Given the description of an element on the screen output the (x, y) to click on. 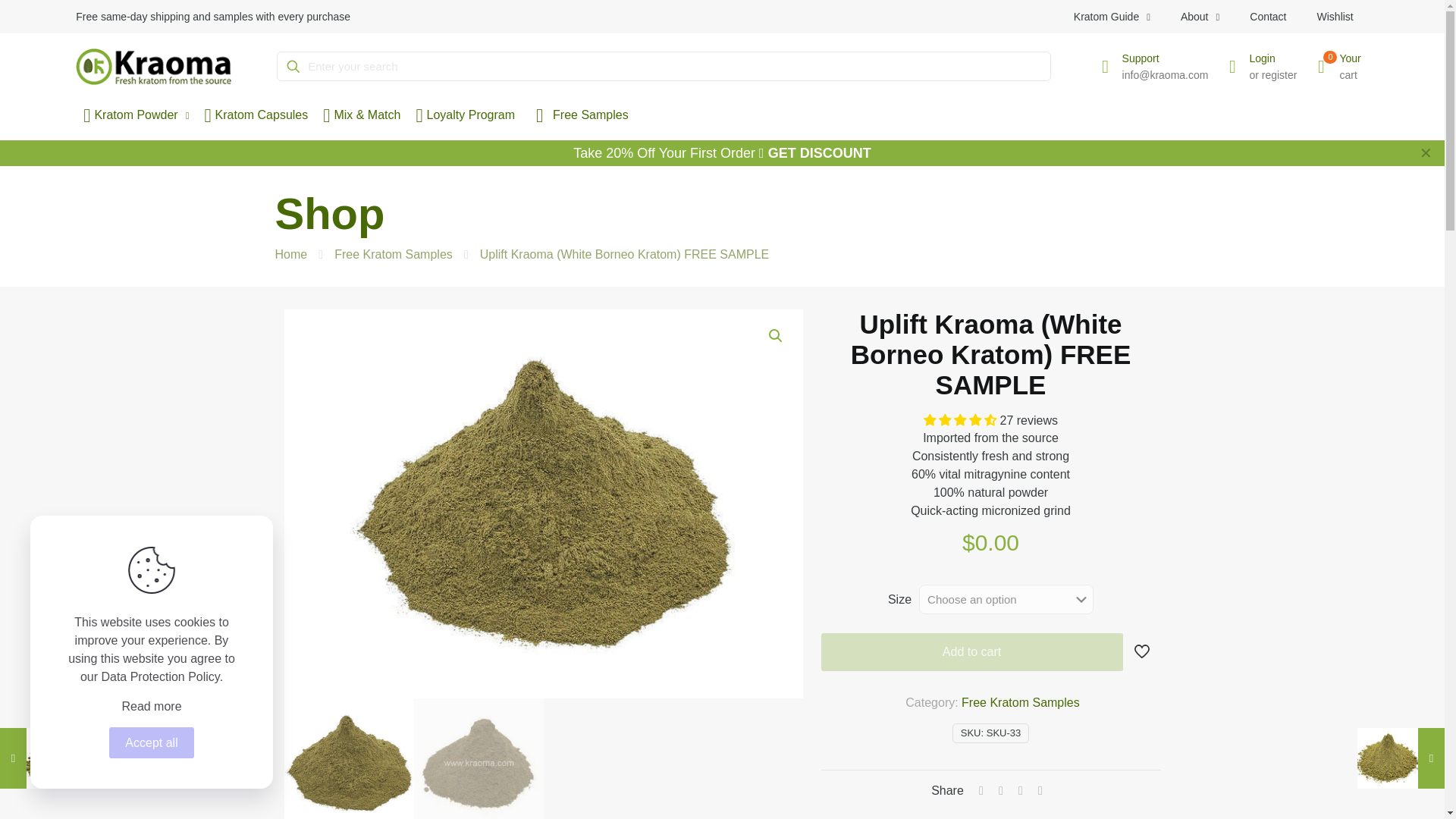
About (1200, 16)
Contact (1267, 16)
Wishlist (1334, 16)
Kratom Guide (1112, 16)
